Given the description of an element on the screen output the (x, y) to click on. 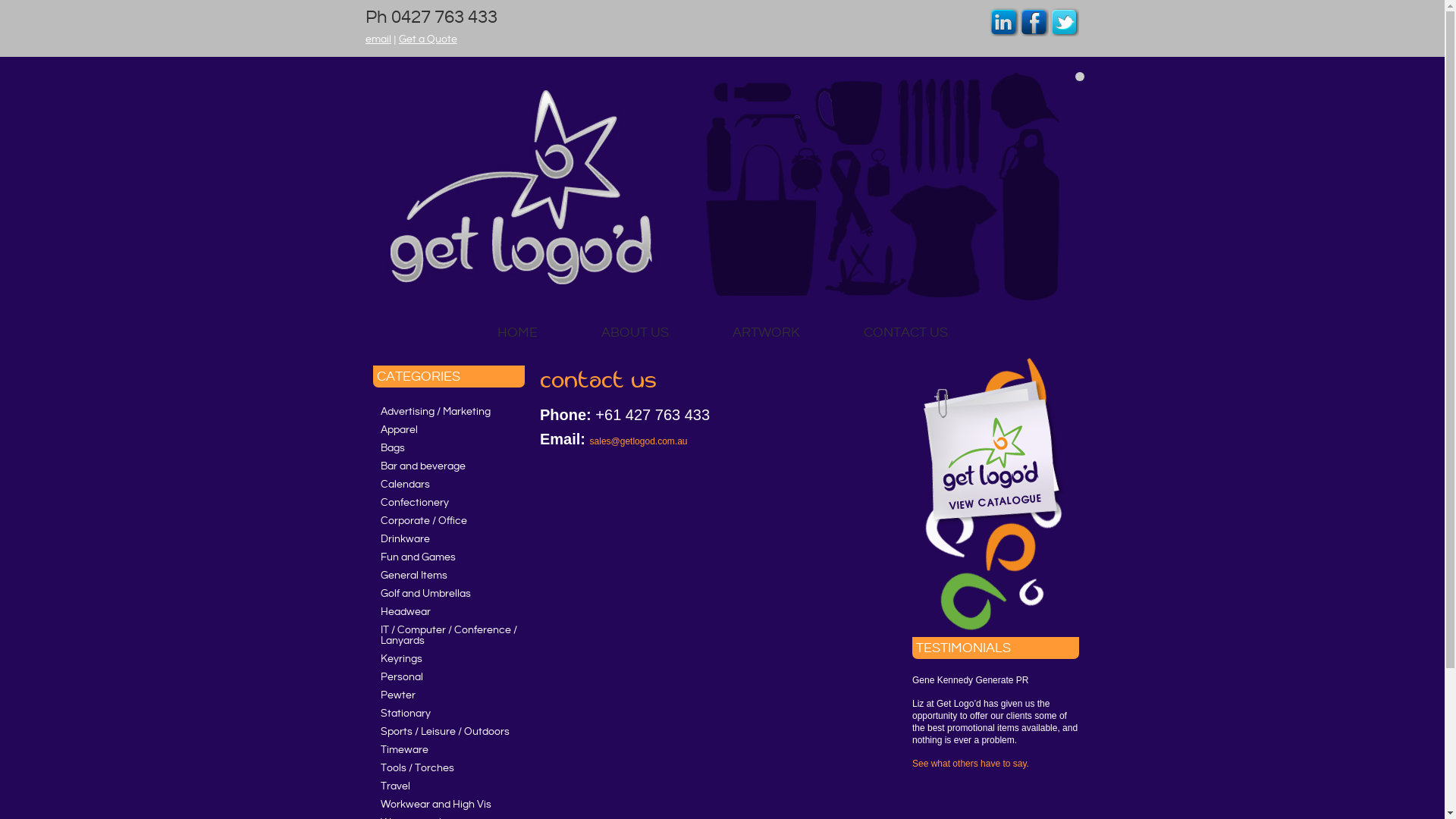
Pewter Element type: text (448, 695)
sales@getlogod.com.au Element type: text (638, 445)
CONTACT US Element type: text (904, 332)
ABOUT US Element type: text (634, 332)
ARTWORK Element type: text (766, 332)
Sports / Leisure / Outdoors Element type: text (448, 731)
Bags Element type: text (448, 448)
Apparel Element type: text (448, 429)
HOME Element type: text (517, 332)
Tools / Torches Element type: text (448, 768)
Advertising / Marketing Element type: text (448, 411)
email Element type: text (378, 39)
Confectionery Element type: text (448, 502)
Travel Element type: text (448, 786)
Timeware Element type: text (448, 749)
Stationary Element type: text (448, 713)
Corporate / Office Element type: text (448, 520)
Personal Element type: text (448, 677)
IT / Computer / Conference / Lanyards Element type: text (448, 635)
Workwear and High Vis Element type: text (448, 804)
Headwear Element type: text (448, 611)
Drinkware Element type: text (448, 539)
See what others have to say. Element type: text (970, 767)
General Items Element type: text (448, 575)
Golf and Umbrellas Element type: text (448, 593)
Calendars Element type: text (448, 484)
Keyrings Element type: text (448, 658)
Get a Quote Element type: text (427, 39)
Fun and Games Element type: text (448, 557)
Bar and beverage Element type: text (448, 466)
